Given the description of an element on the screen output the (x, y) to click on. 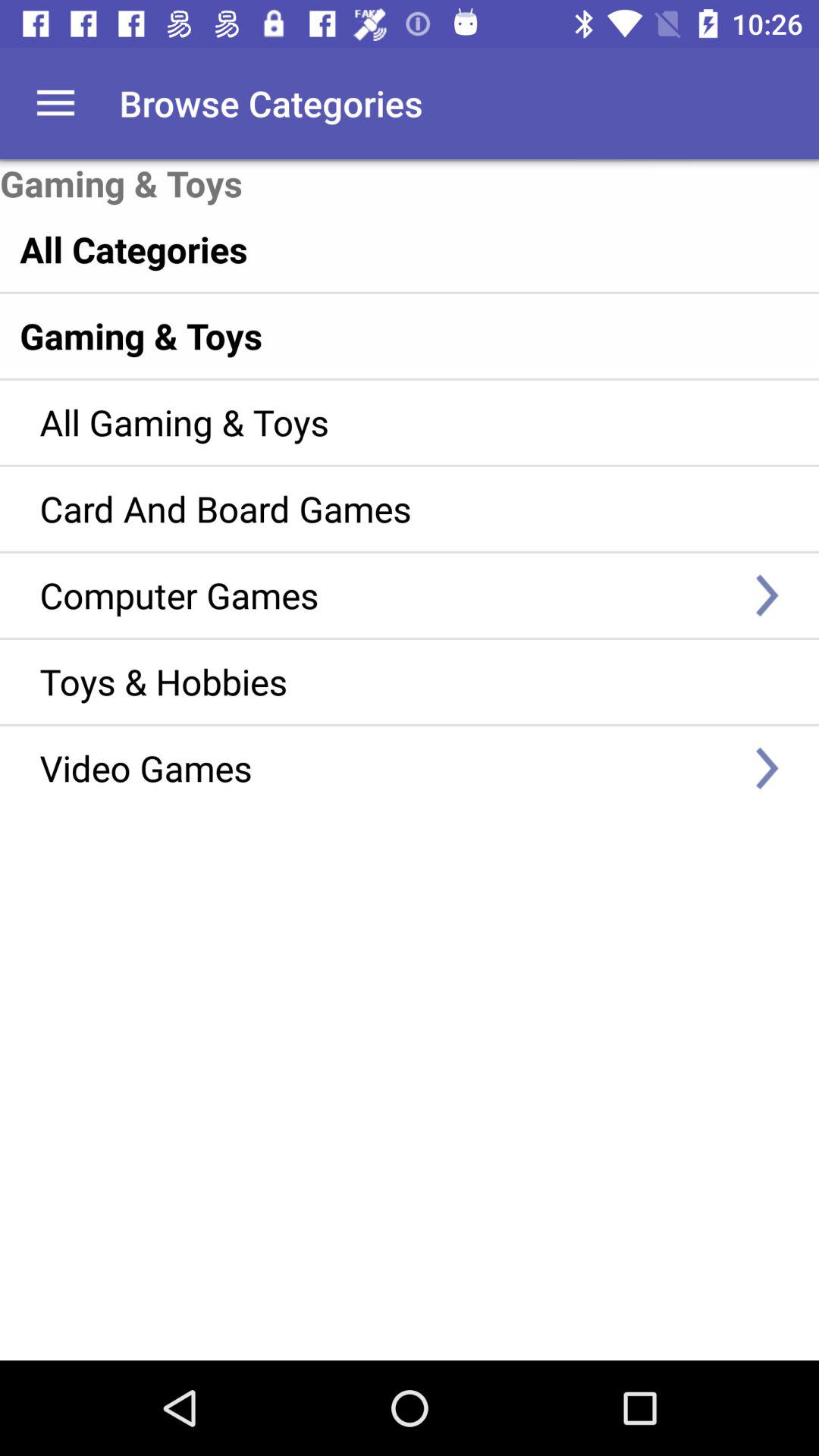
choose the video games icon (387, 767)
